Given the description of an element on the screen output the (x, y) to click on. 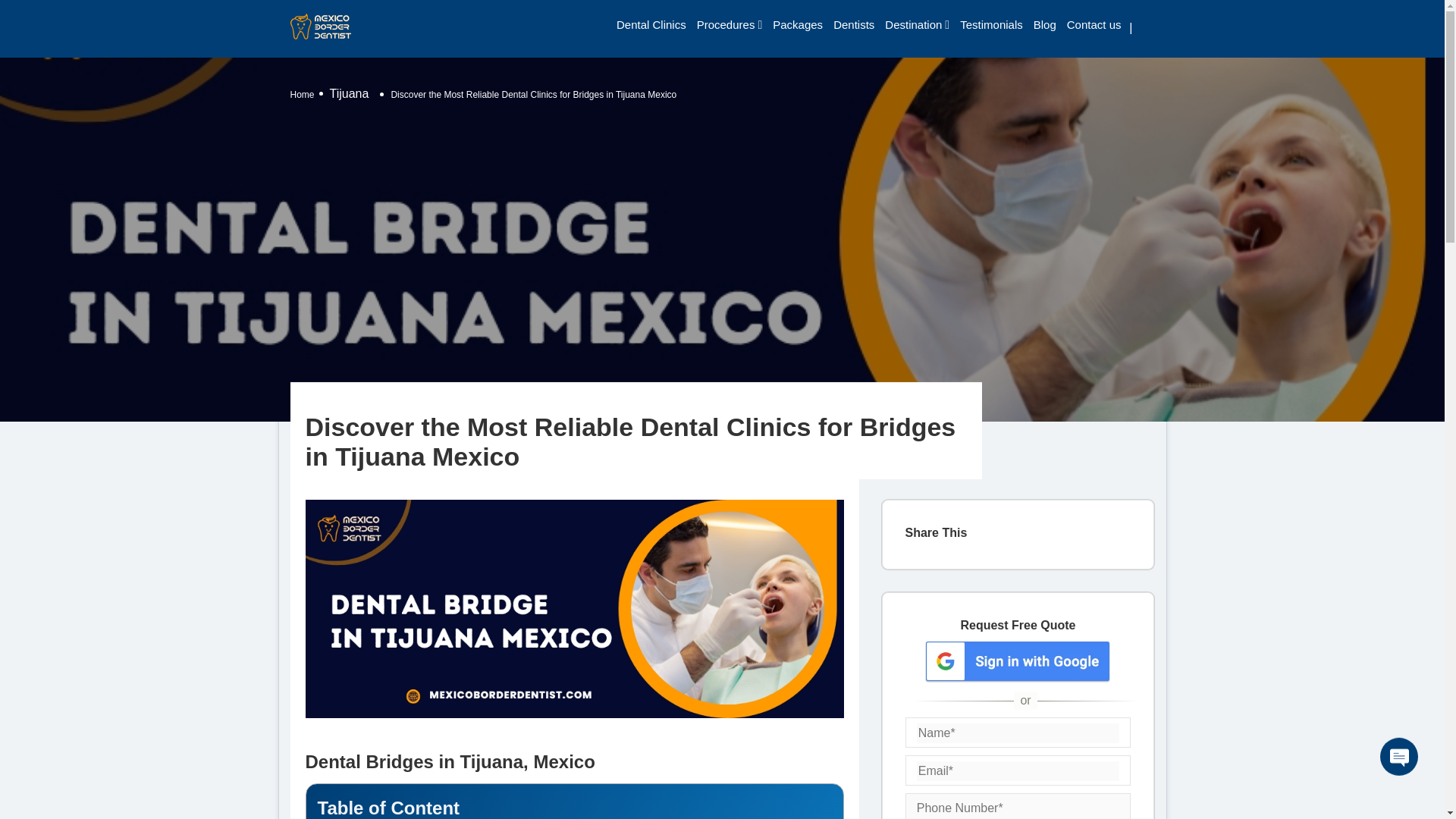
Dental Bridge in Tijuana (573, 608)
Dental Clinics (650, 24)
Procedures (726, 24)
